Given the description of an element on the screen output the (x, y) to click on. 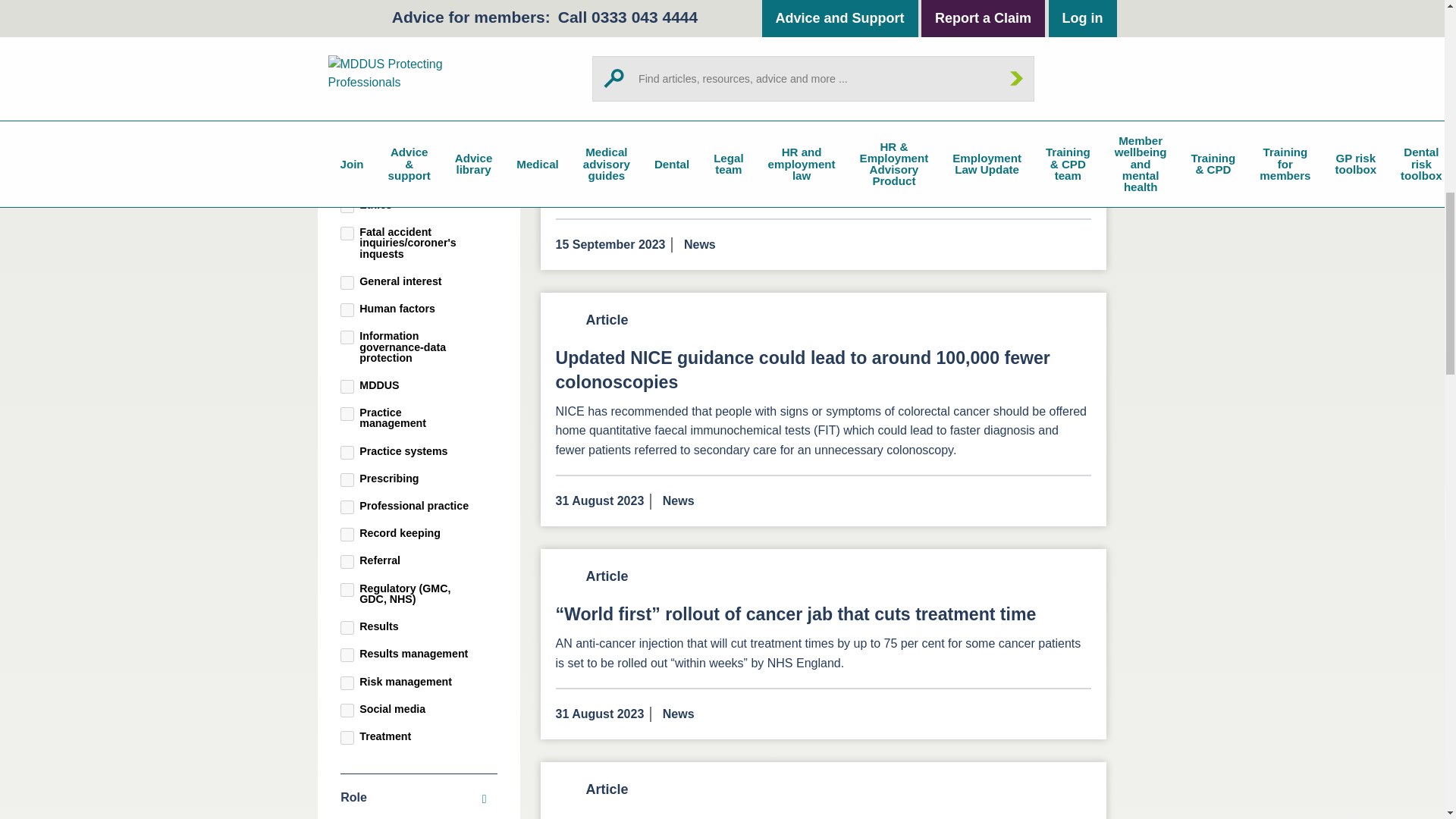
CCB51A44DEDB4FB0B7C413128429AFD5 (346, 233)
2C68234596CB408FB622D2DB21A264BA (346, 13)
516205FBFD85441AAE2E731376179A3A (346, 683)
1C64BFB9064342C1939082DF1D373919 (346, 151)
1047ADF1DA974EF7A125F3F62BC9D543 (346, 205)
26EC8DC9061D468F990FEF63928C0433 (346, 282)
01D8943903B34128BA053B9CF9C2FBC4 (346, 123)
10EA0DC5EC004886BEA7099B2E0DE710 (346, 386)
9B3A3EB1DD1749D8B8AC2B1463B1CF5E (346, 309)
2E7A77E4F4D544AD861C0B9B016DA97C (346, 452)
2BB53D2B6B5C4136A6C0EE3EC9C5EA30 (346, 69)
256E0ECBC582444FADE0347EE28DC67D (346, 41)
0B9055D1F65E4FA0B8985BB643985AD8 (346, 96)
9DC845EEEE33472695C0BB91AAC89D65 (346, 507)
01D8943903B34128BA053B9CF9C2FBC4 (346, 123)
